Given the description of an element on the screen output the (x, y) to click on. 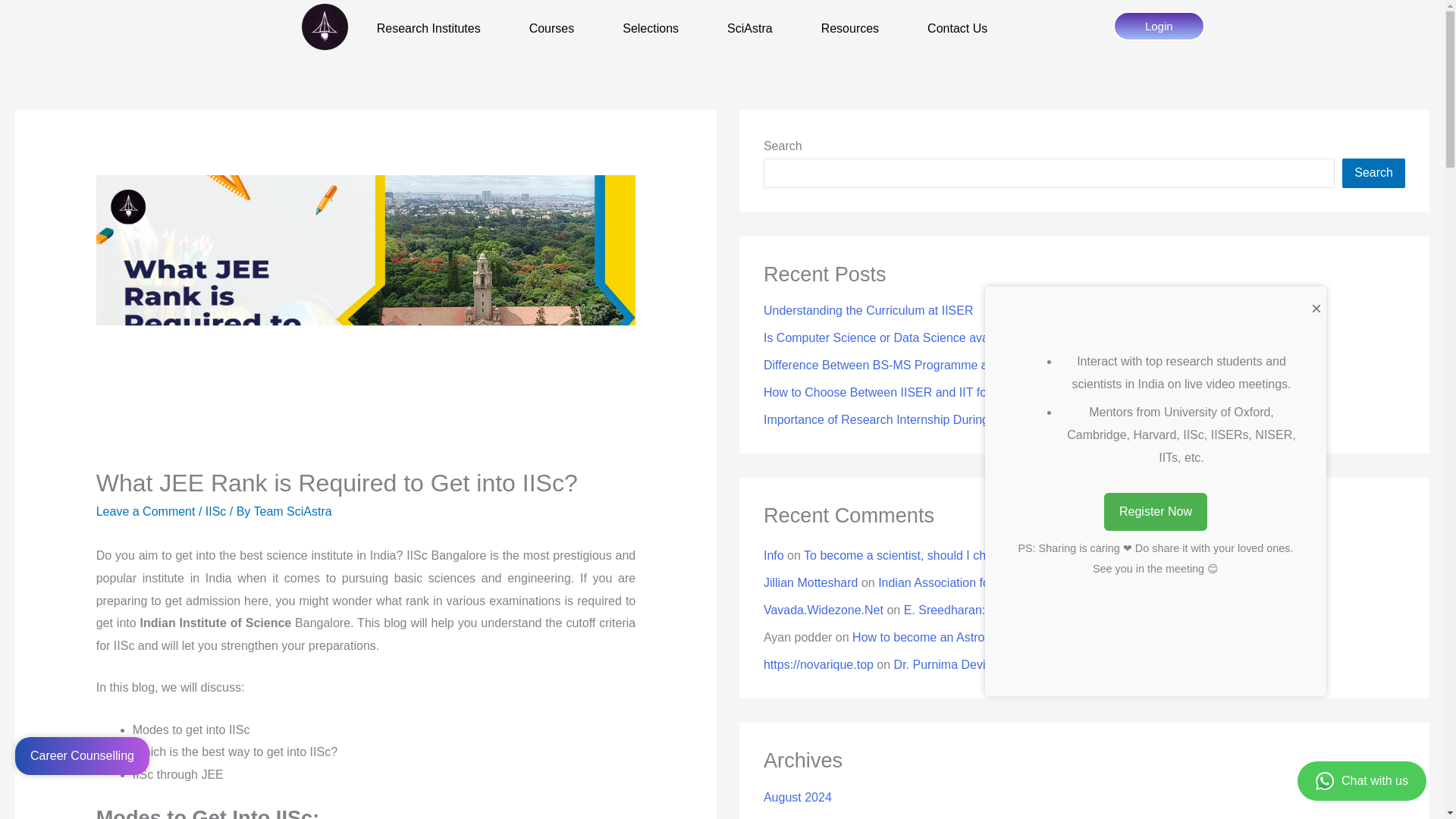
View all posts by Team SciAstra (292, 511)
Chat with us (1361, 780)
SciAstra (750, 28)
Register Now (1155, 511)
Career Counselling (81, 755)
Resources (849, 28)
Research Institutes (428, 28)
Courses (552, 28)
Contact Us (957, 28)
Selections (650, 28)
